Given the description of an element on the screen output the (x, y) to click on. 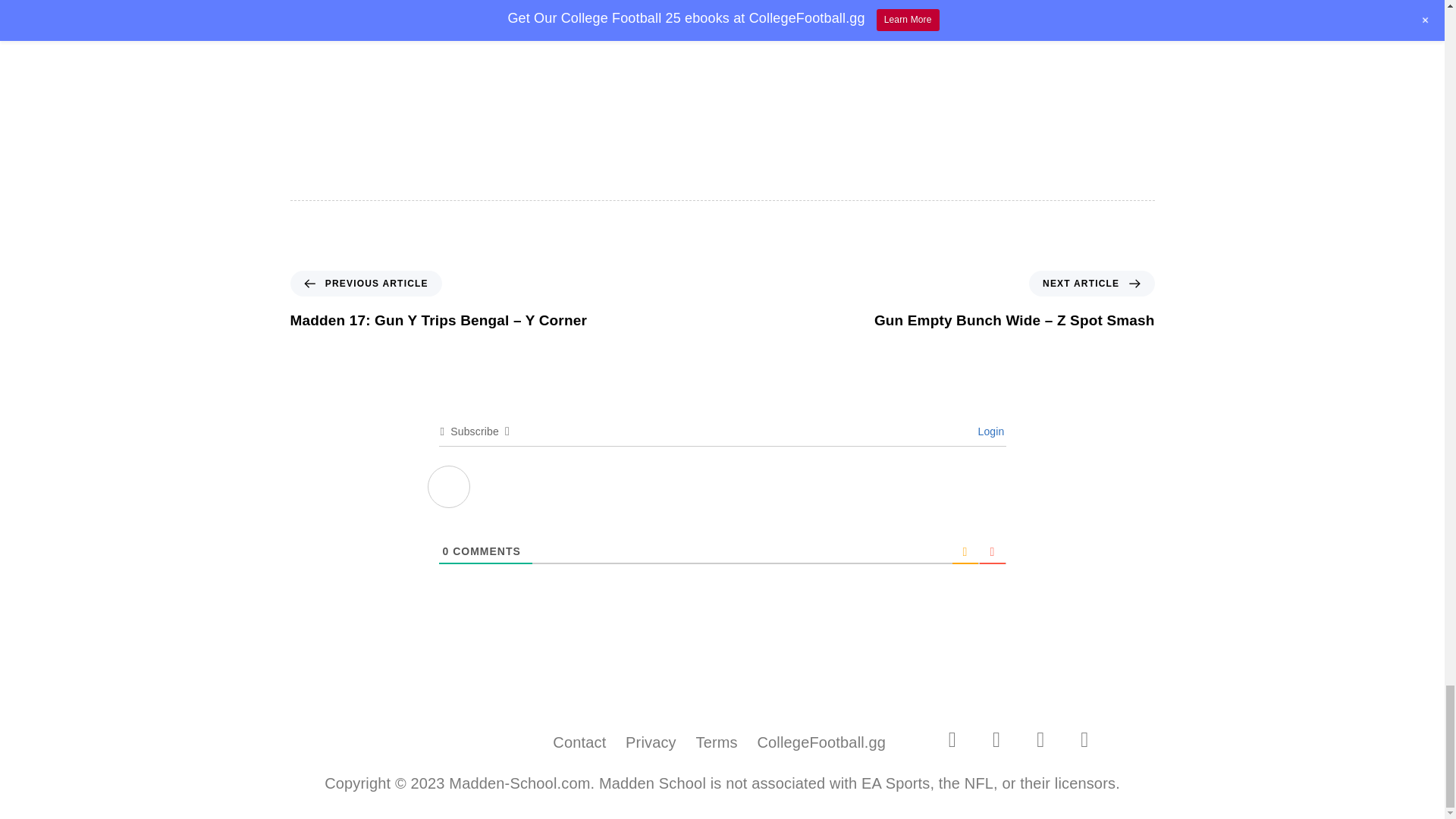
Login (988, 431)
